Given the description of an element on the screen output the (x, y) to click on. 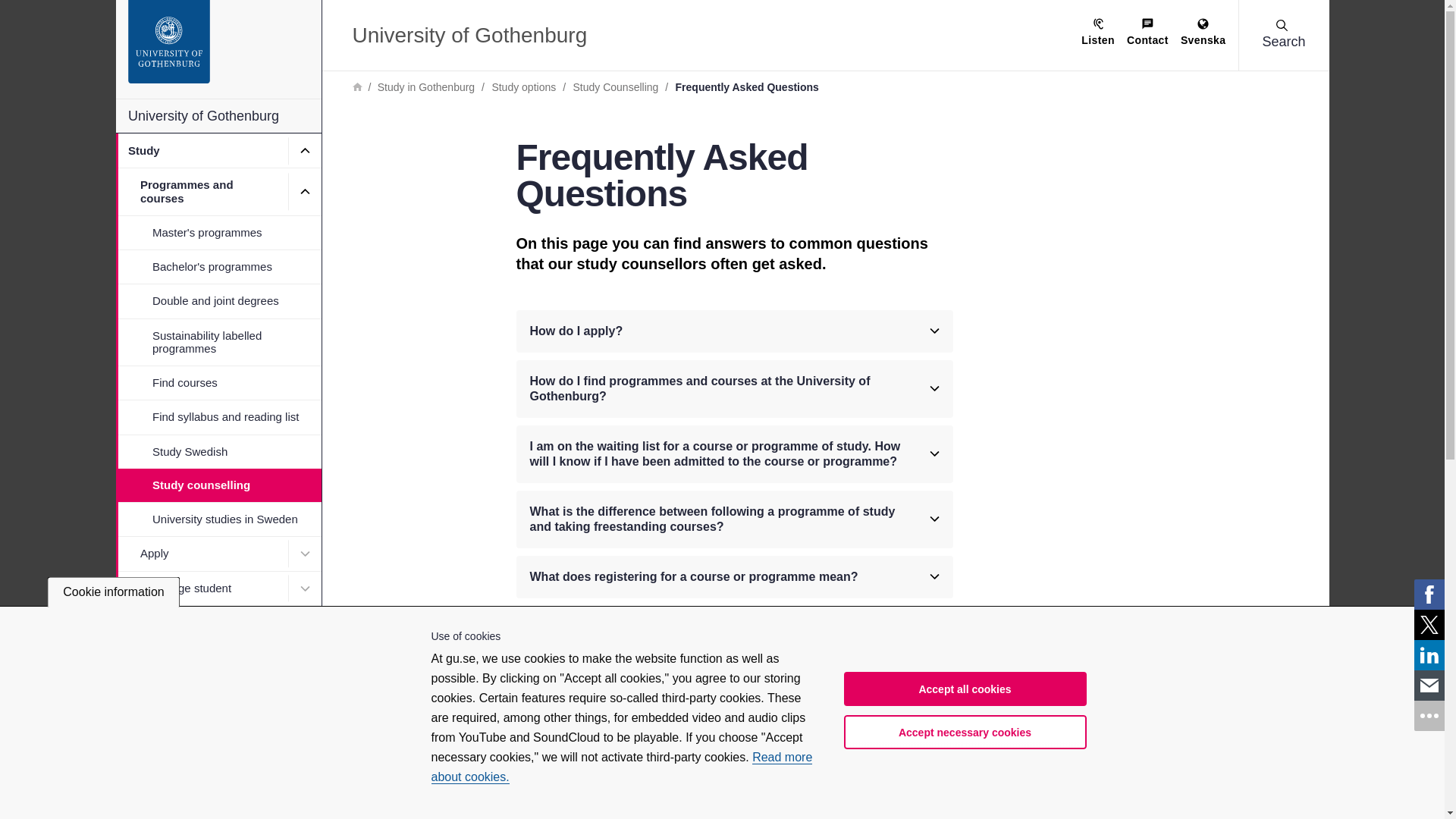
Submenu for Apply (304, 553)
Listen with ReadSpeaker (1098, 33)
Study Swedish (217, 450)
Study counselling (217, 485)
Apply (200, 553)
Submenu for Study (304, 150)
University studies in Sweden (217, 519)
Find courses (217, 382)
Search function (105, 11)
Master's programmes (217, 232)
